Given the description of an element on the screen output the (x, y) to click on. 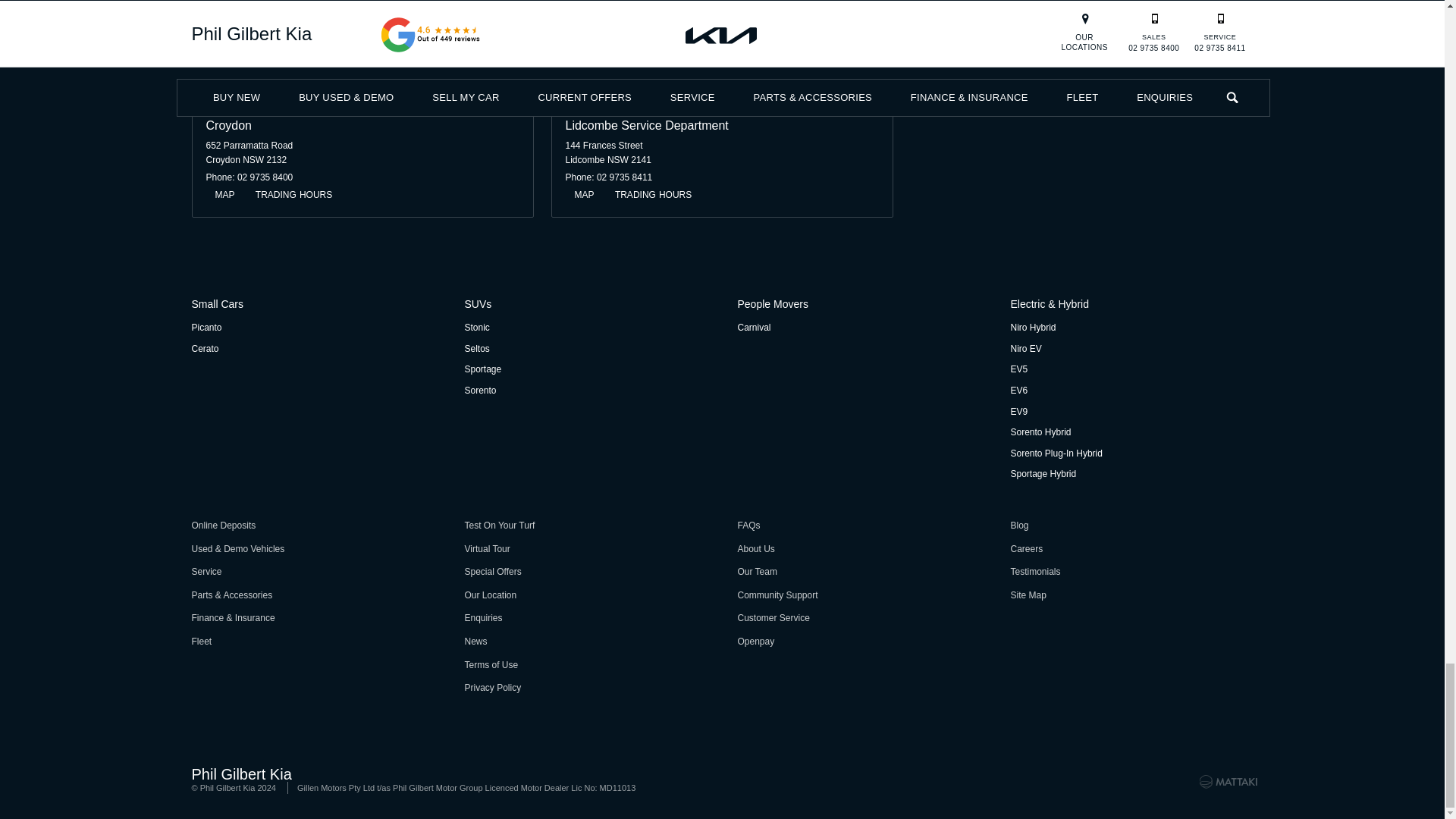
Follow Us on Instagram (1241, 45)
Become a Friend on Facebook (1186, 45)
Visit our YouTube Channel (1213, 45)
